Given the description of an element on the screen output the (x, y) to click on. 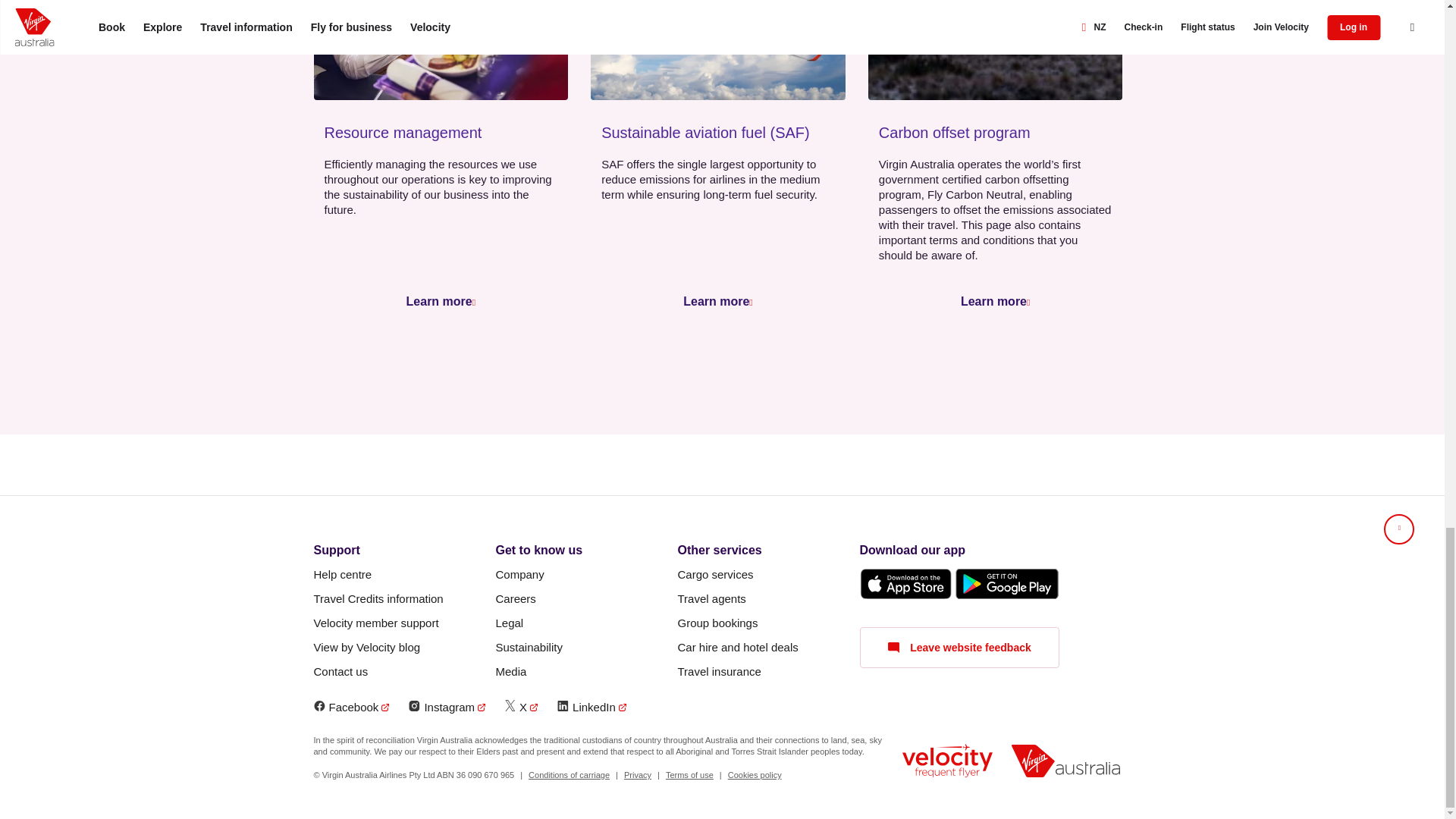
Learn more (715, 300)
scroll to top button (1398, 529)
Learn more (438, 300)
Learn more (993, 300)
Travel Credits information (379, 598)
help centre link (343, 574)
